Given the description of an element on the screen output the (x, y) to click on. 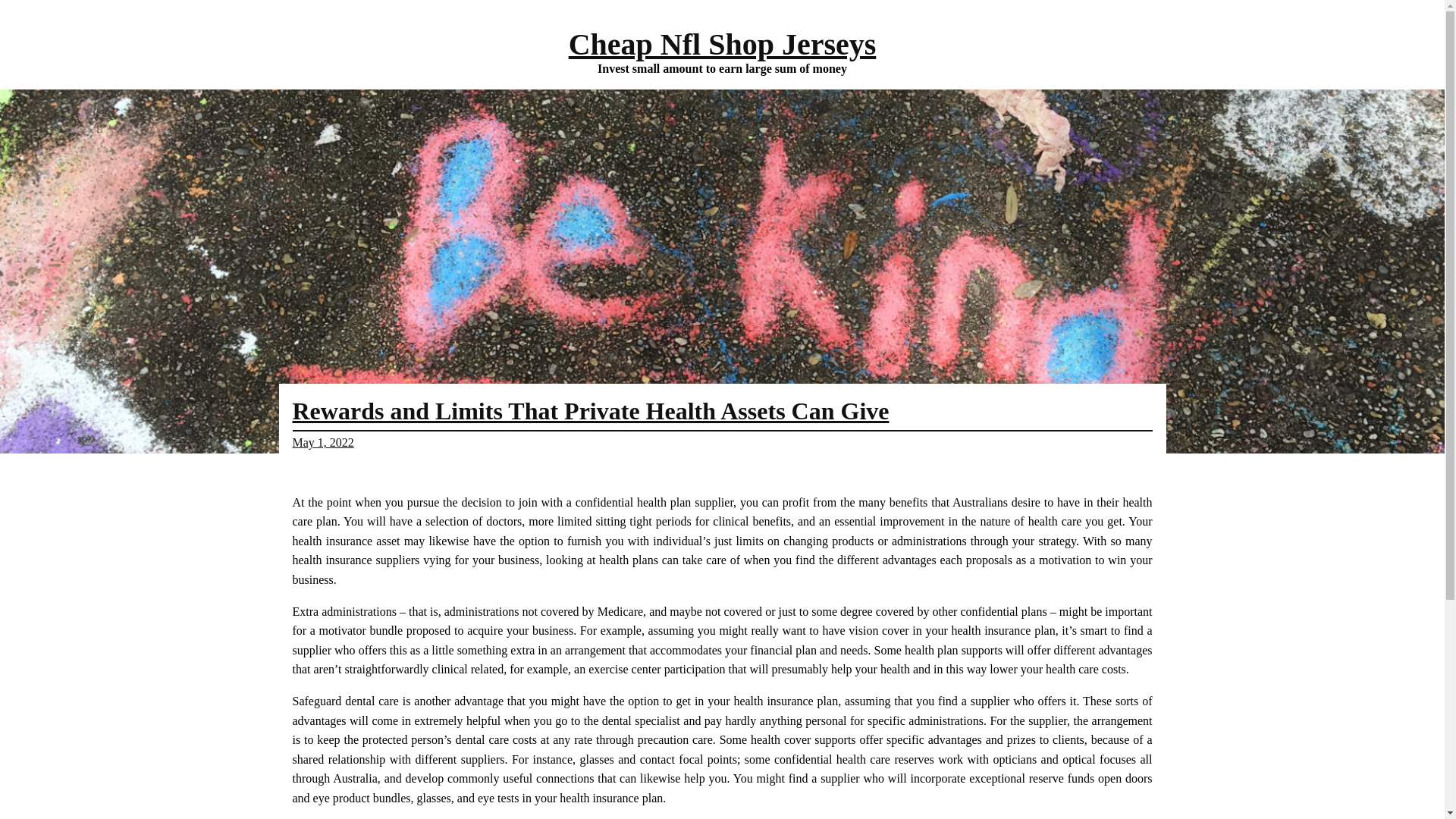
Cheap Nfl Shop Jerseys (722, 44)
Rewards and Limits That Private Health Assets Can Give (590, 411)
May 1, 2022 (322, 441)
